Given the description of an element on the screen output the (x, y) to click on. 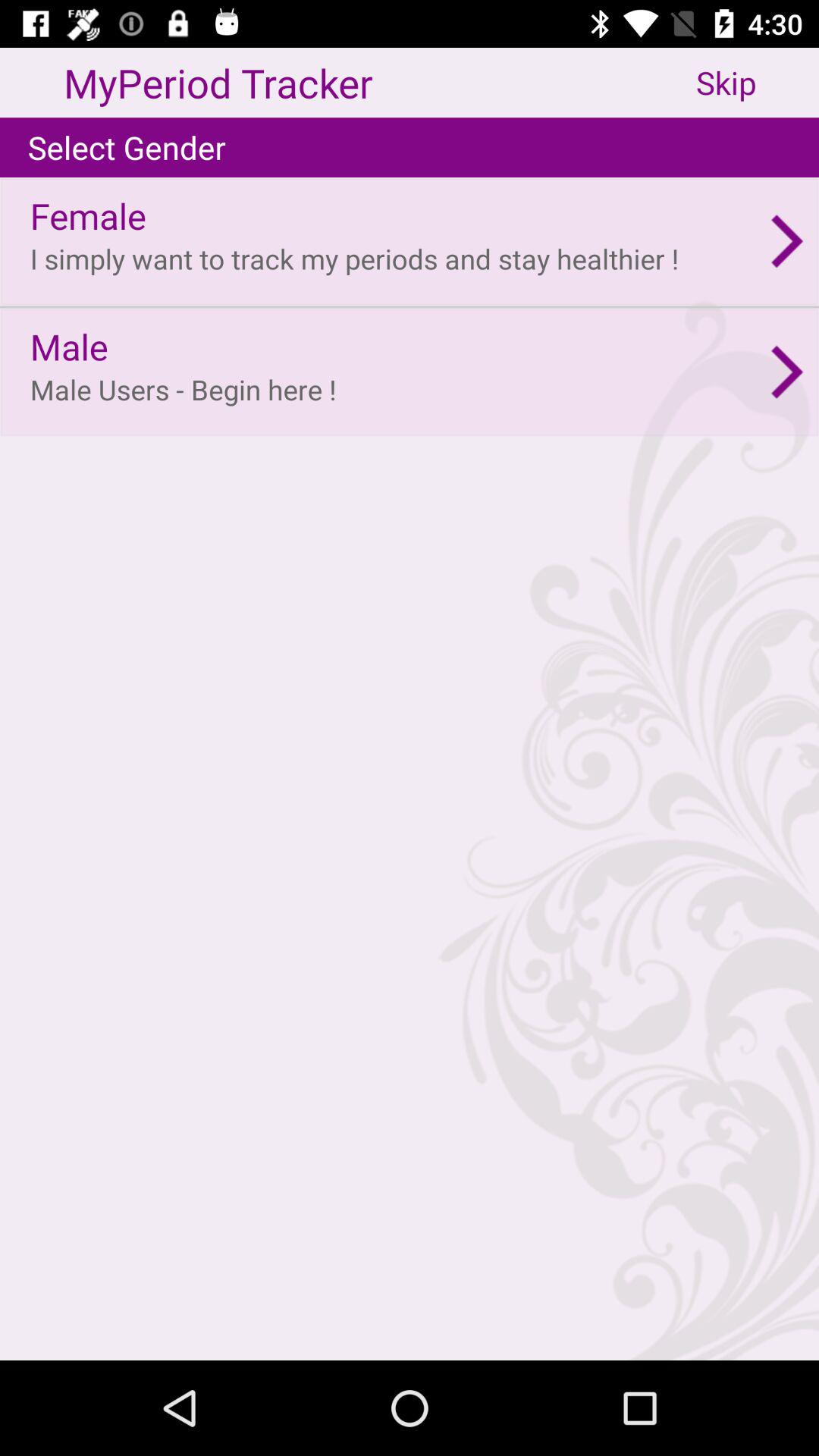
turn off the icon above the select gender app (757, 82)
